Given the description of an element on the screen output the (x, y) to click on. 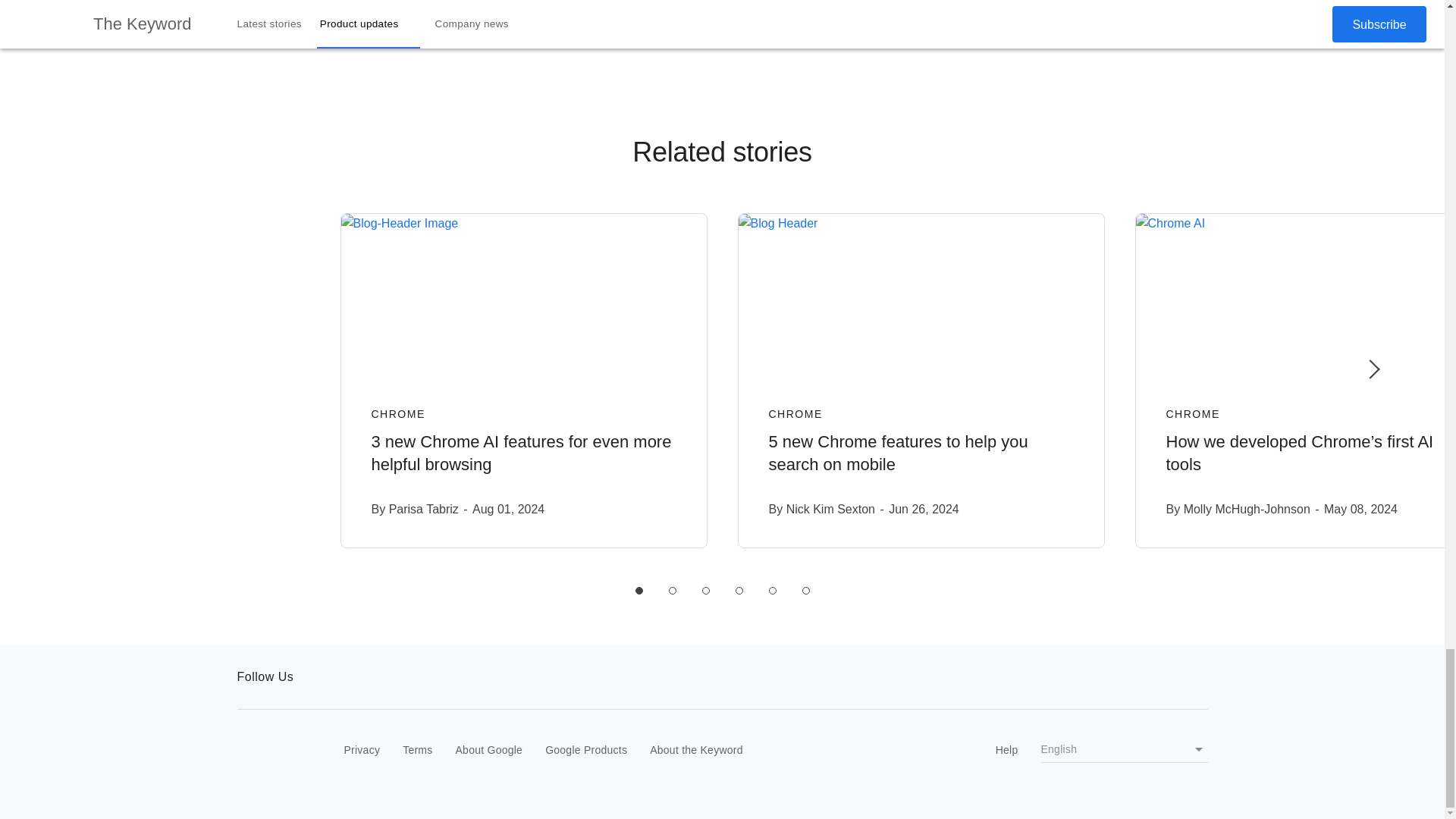
Google (268, 750)
